Given the description of an element on the screen output the (x, y) to click on. 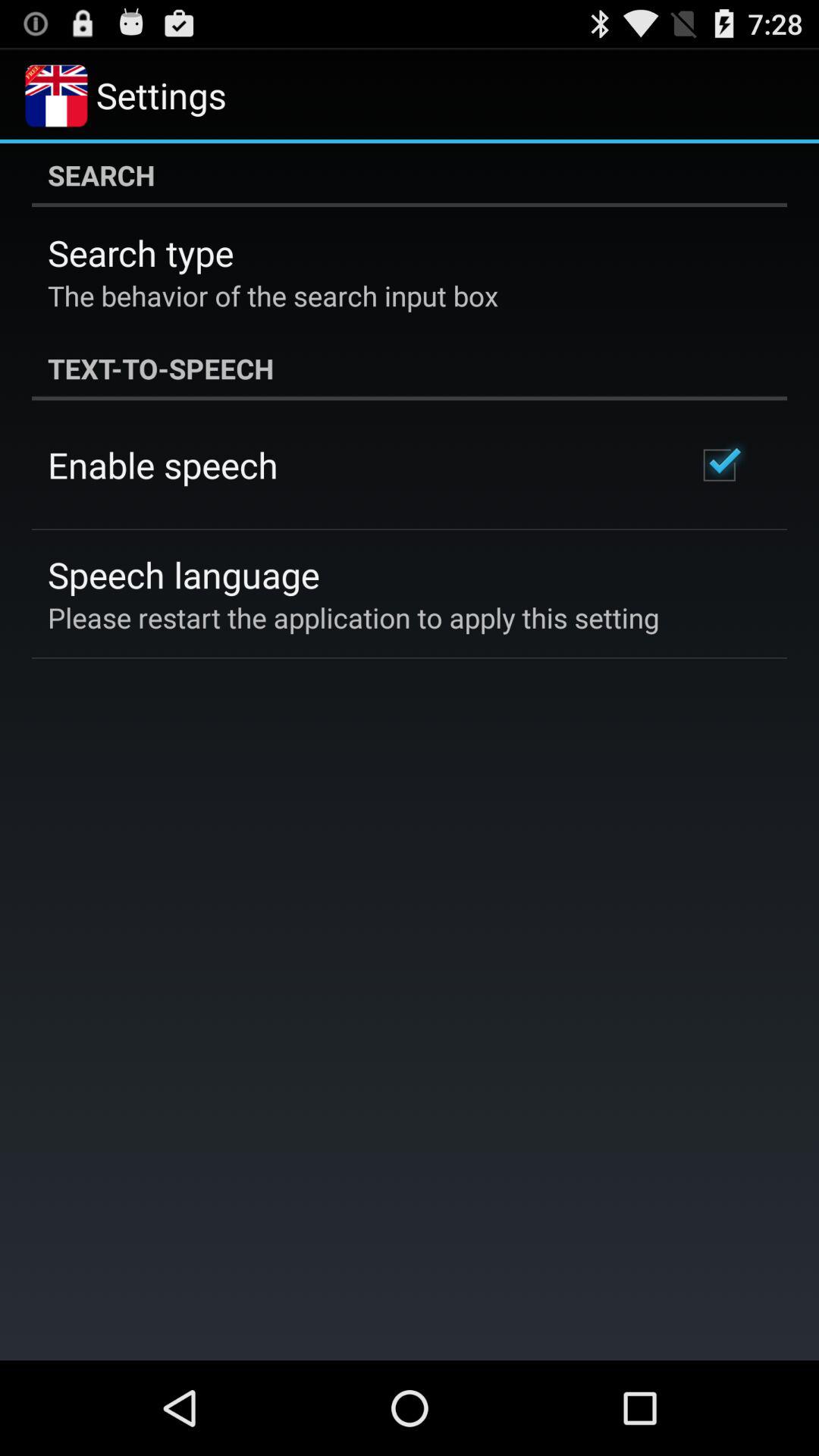
select icon below speech language icon (353, 617)
